Given the description of an element on the screen output the (x, y) to click on. 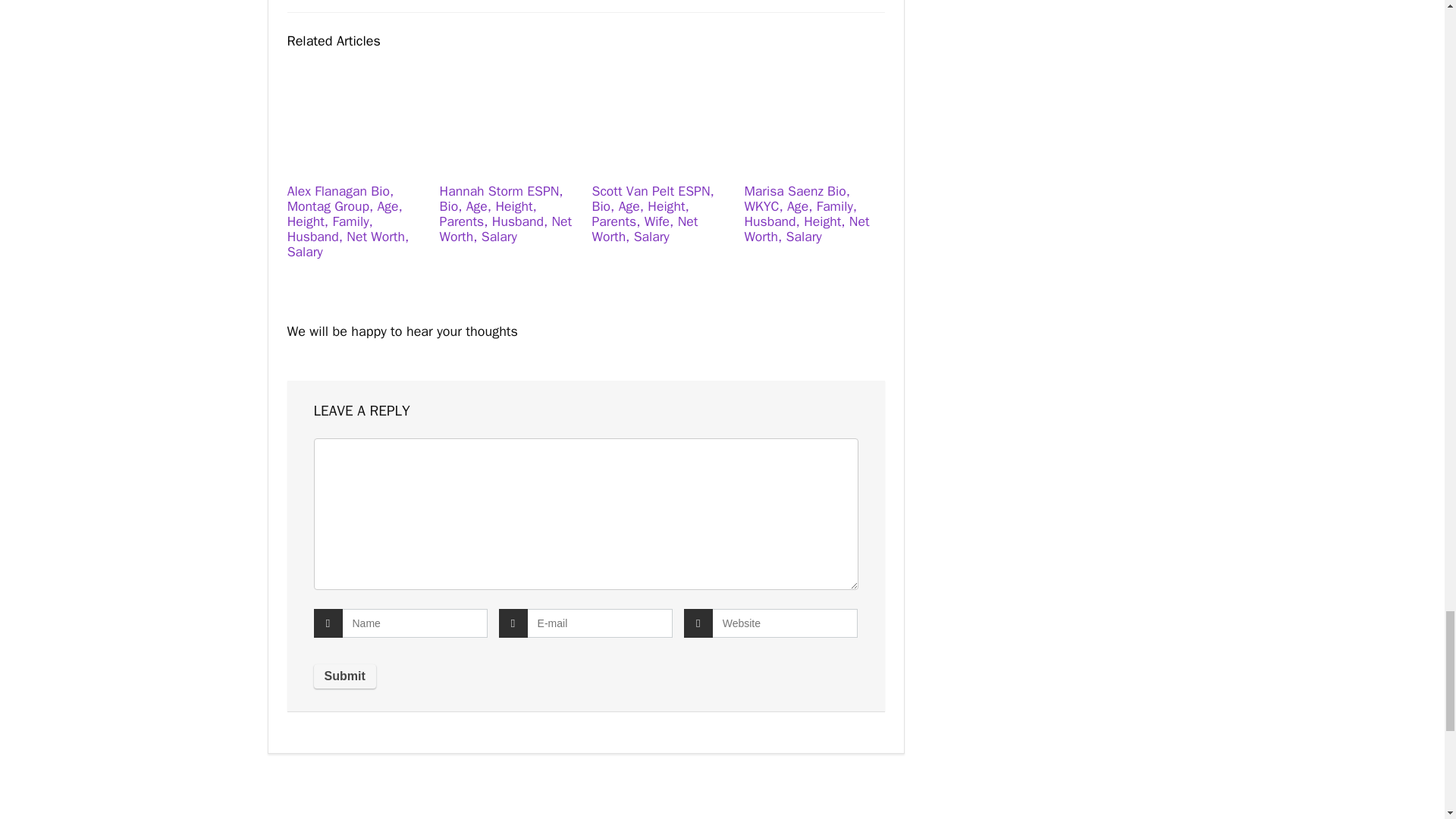
Submit (344, 676)
Submit (344, 676)
